Given the description of an element on the screen output the (x, y) to click on. 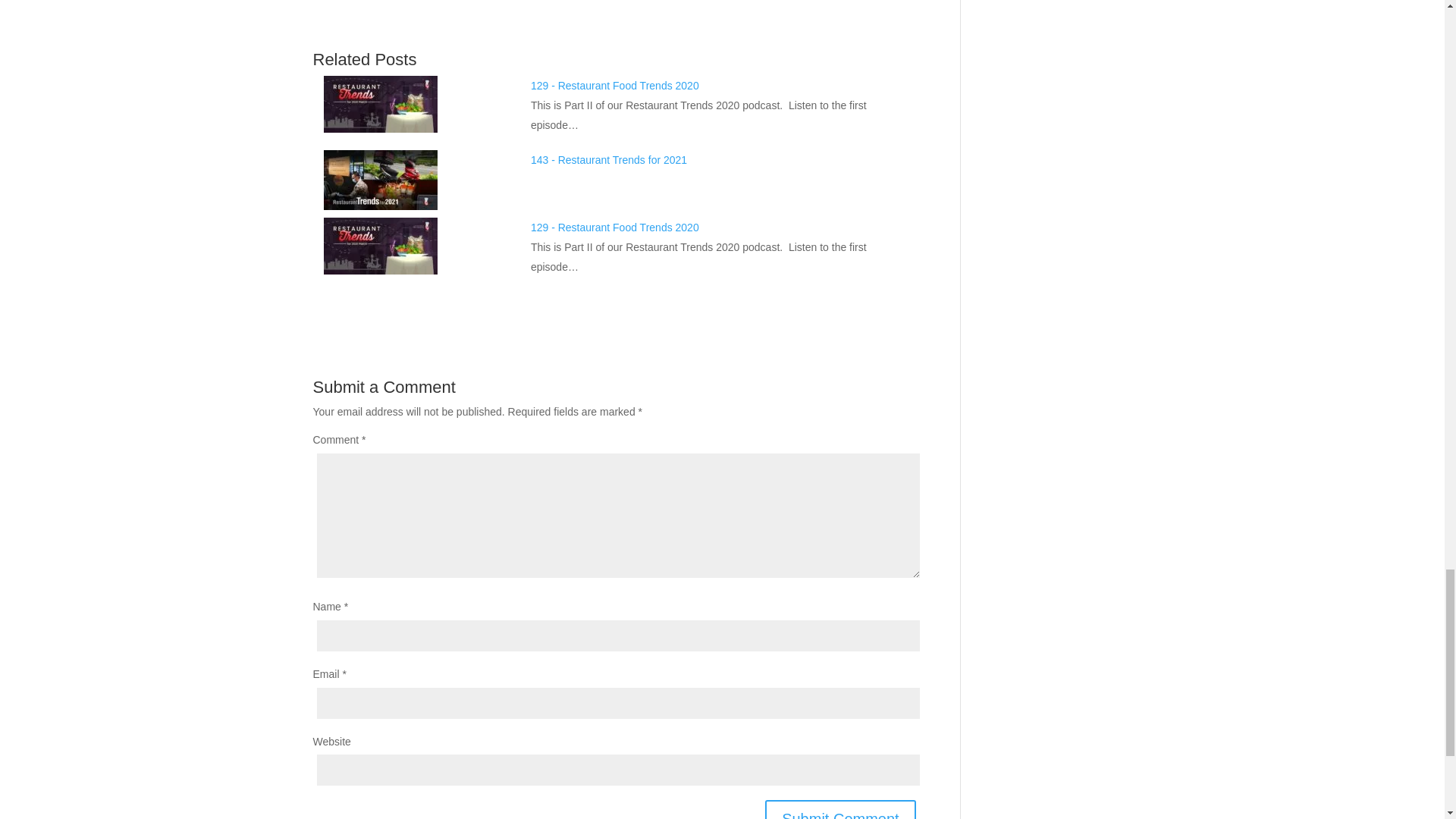
Submit Comment (840, 809)
Submit Comment (840, 809)
143 - Restaurant Trends for 2021 (609, 159)
129 - Restaurant Food Trends 2020 (614, 85)
129 - Restaurant Food Trends 2020 (614, 227)
